Given the description of an element on the screen output the (x, y) to click on. 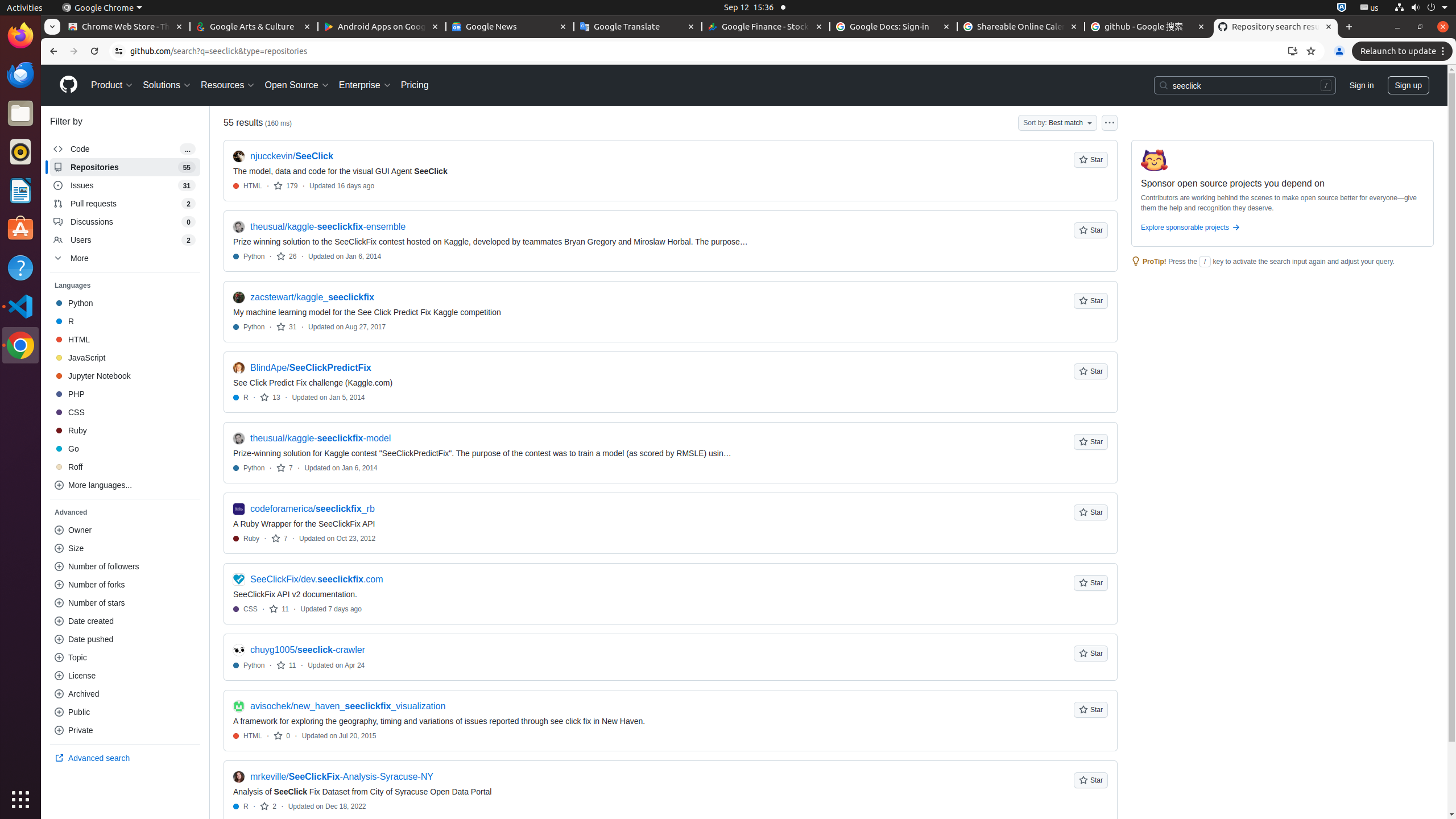
Open Source Element type: push-button (296, 84)
Reload Element type: push-button (94, 50)
‎Number of followers‎ Element type: push-button (125, 566)
Homepage Element type: link (68, 85)
‎Number of forks‎ Element type: push-button (125, 584)
